Given the description of an element on the screen output the (x, y) to click on. 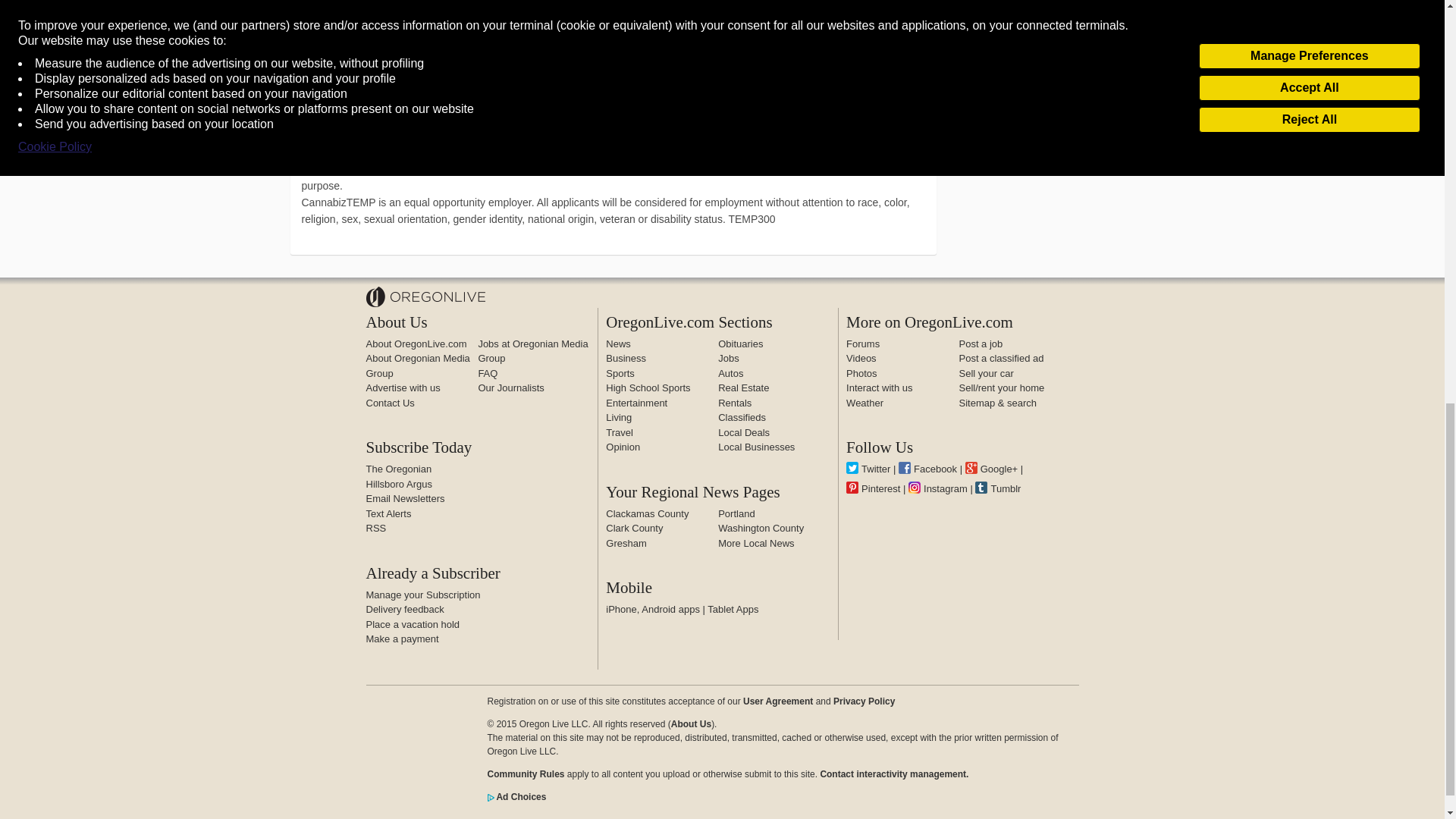
Community Rules (893, 774)
User Agreement (777, 701)
Privacy Policy (863, 701)
Community Rules (525, 774)
Contact Us (389, 402)
